Given the description of an element on the screen output the (x, y) to click on. 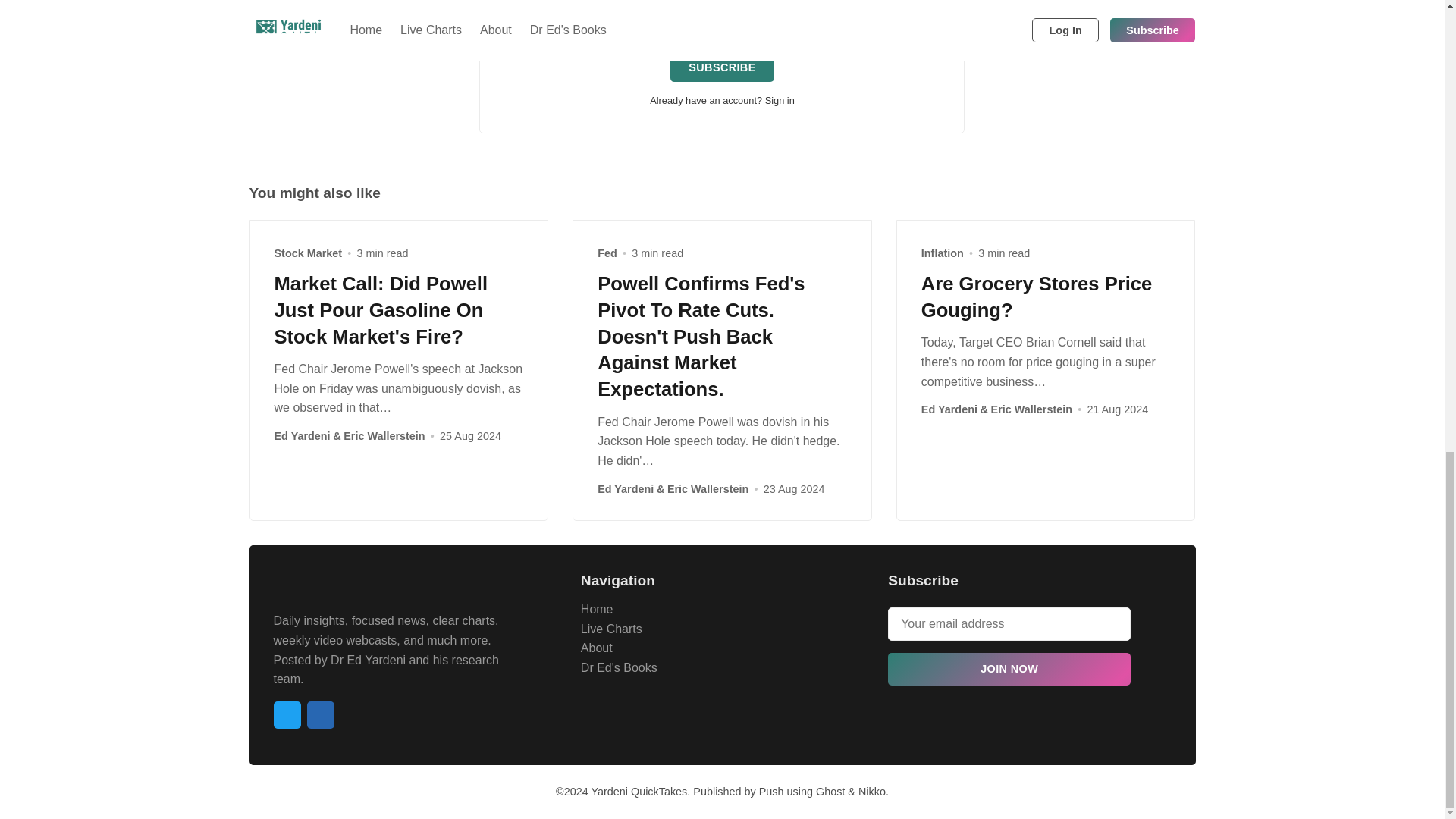
Twitter (286, 714)
Ed Yardeni (302, 436)
Stock Market (308, 253)
Linkedin (319, 714)
Eric Wallerstein (384, 436)
Sign in (779, 100)
Fed (606, 253)
SUBSCRIBE (721, 67)
Ed Yardeni (624, 488)
